Given the description of an element on the screen output the (x, y) to click on. 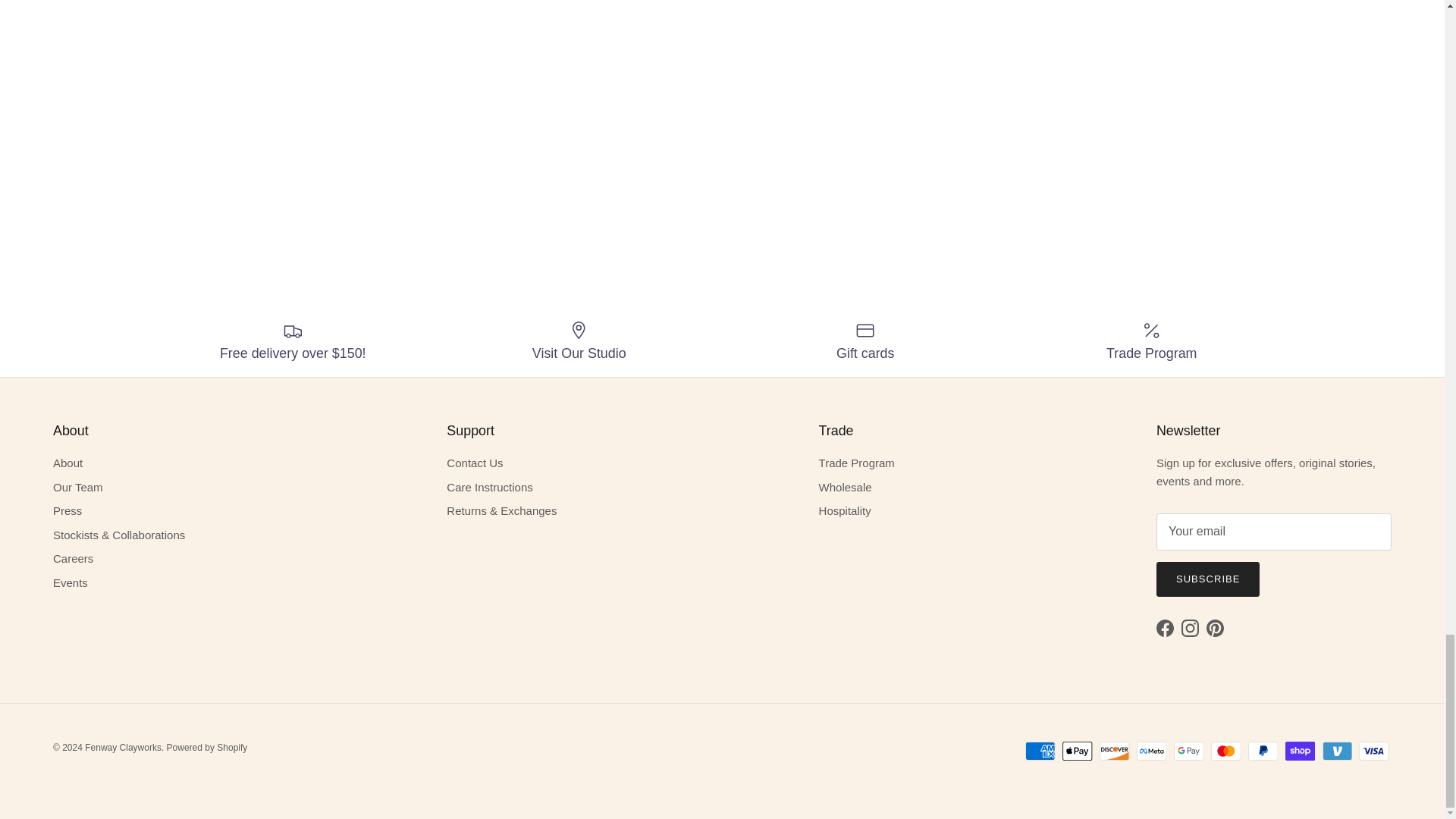
Apple Pay (1077, 751)
Meta Pay (1151, 751)
Fenway Clayworks on Facebook (1164, 628)
Discover (1114, 751)
American Express (1040, 751)
Fenway Clayworks on Instagram (1189, 628)
Fenway Clayworks on Pinterest (1215, 628)
